Given the description of an element on the screen output the (x, y) to click on. 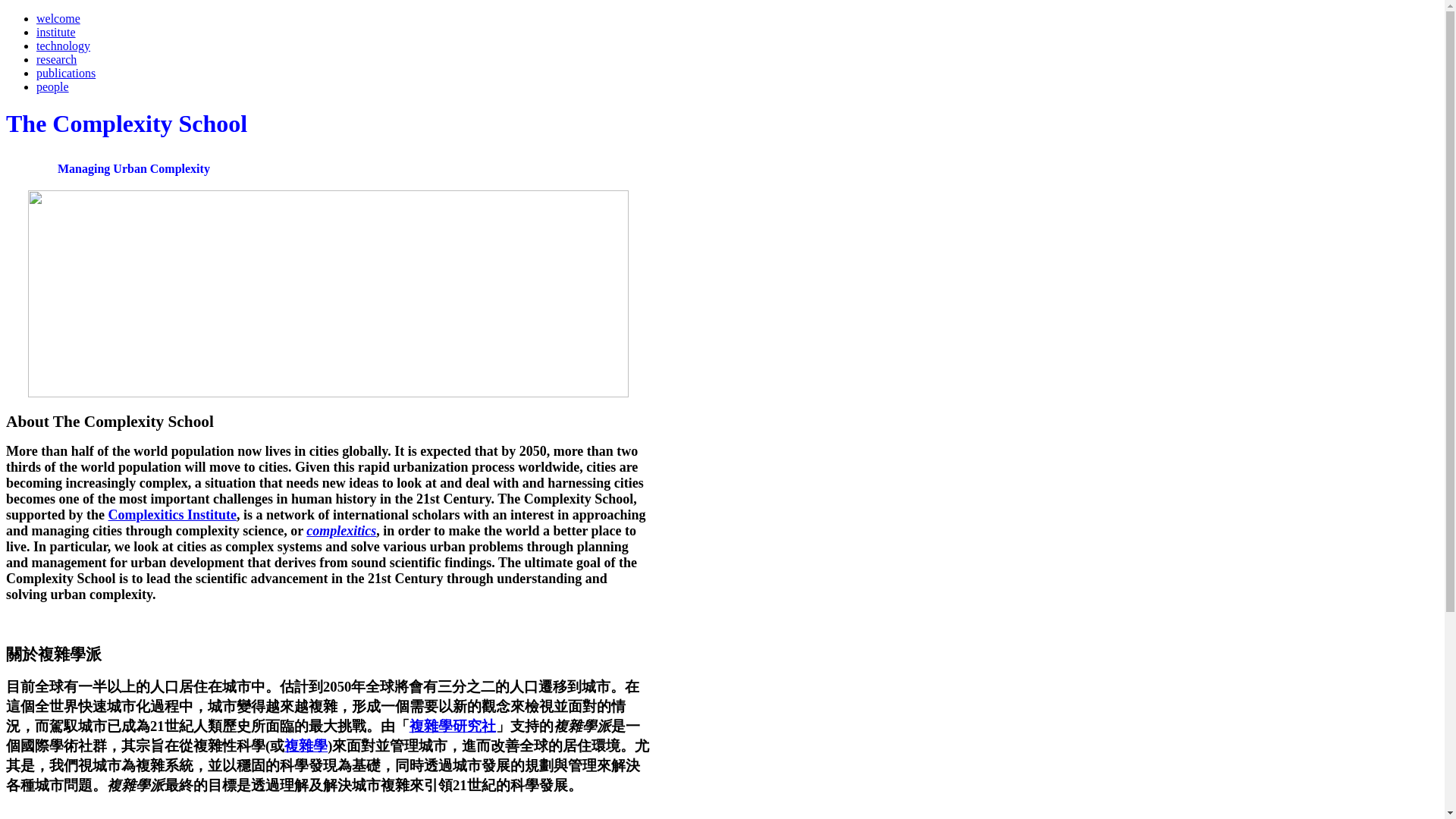
people (52, 86)
publications (66, 72)
institute (55, 31)
welcome (58, 18)
research (56, 59)
Complexitics Institute (172, 514)
complexitics (340, 530)
technology (63, 45)
